Given the description of an element on the screen output the (x, y) to click on. 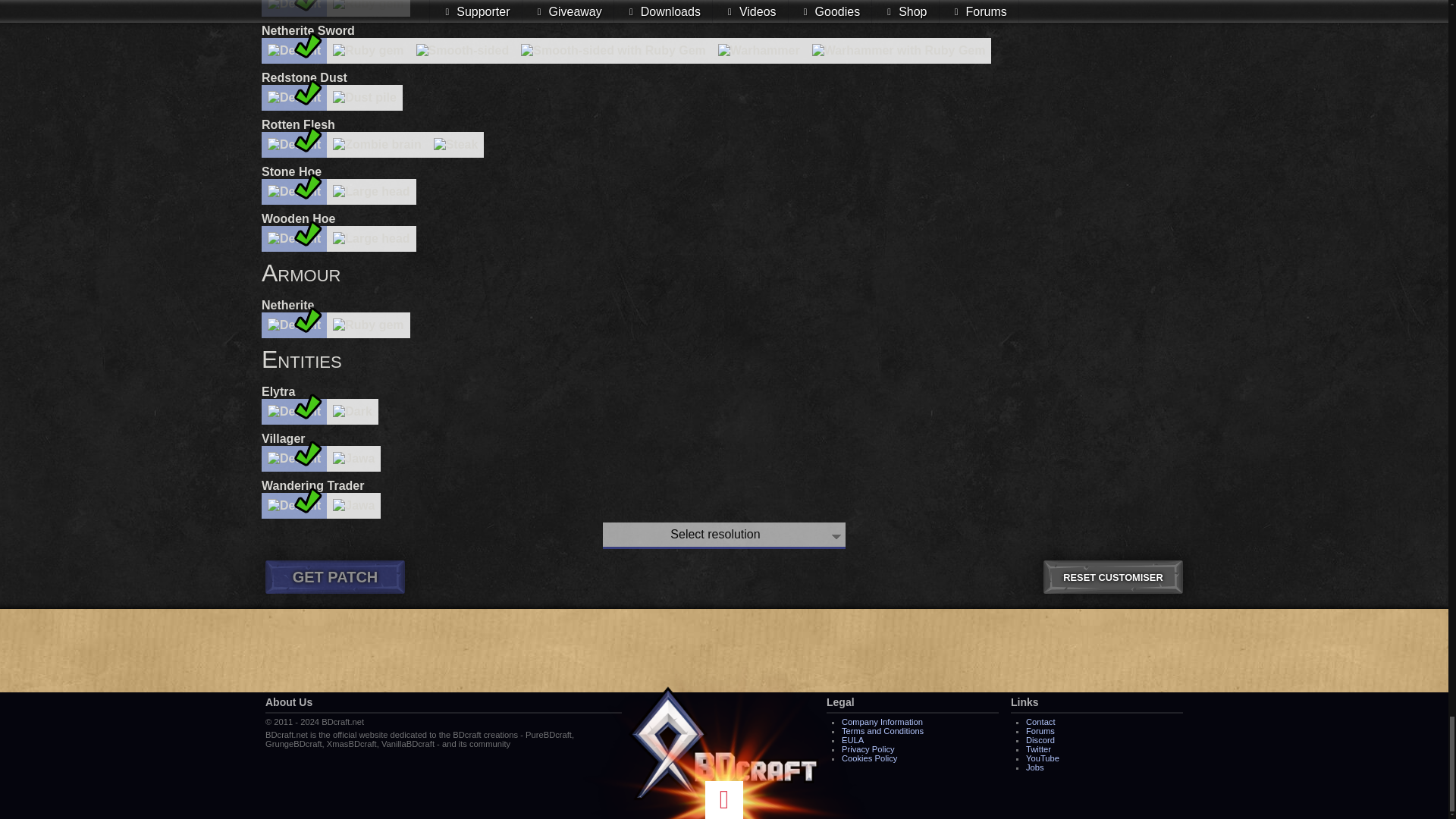
Terms and Conditions (882, 730)
Company Information (882, 721)
Reset customiser (1112, 576)
Get patch (334, 576)
Get patch (334, 576)
